Given the description of an element on the screen output the (x, y) to click on. 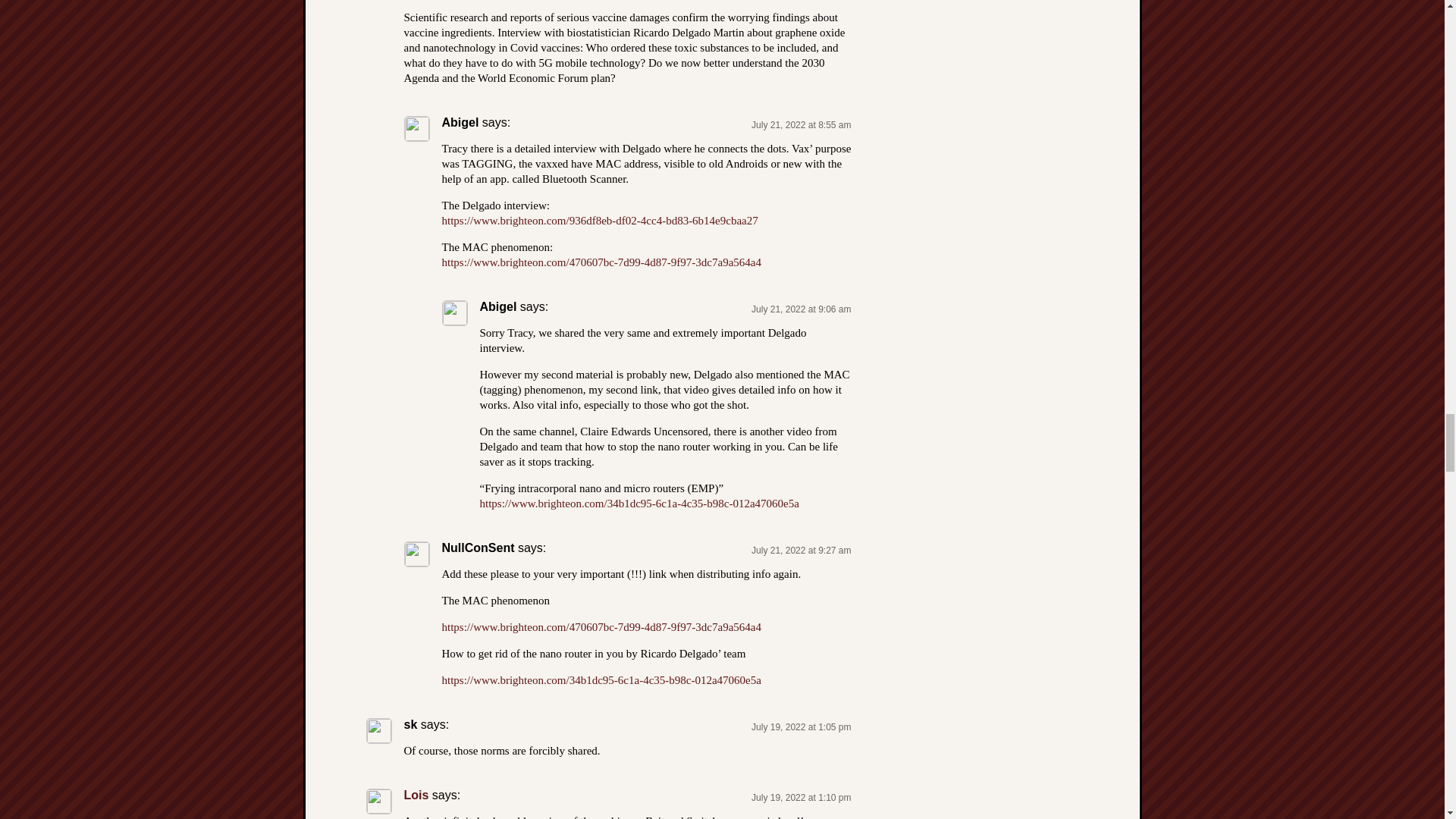
July 21, 2022 at 9:06 am (800, 308)
July 21, 2022 at 8:55 am (800, 124)
July 21, 2022 at 9:27 am (800, 550)
